Given the description of an element on the screen output the (x, y) to click on. 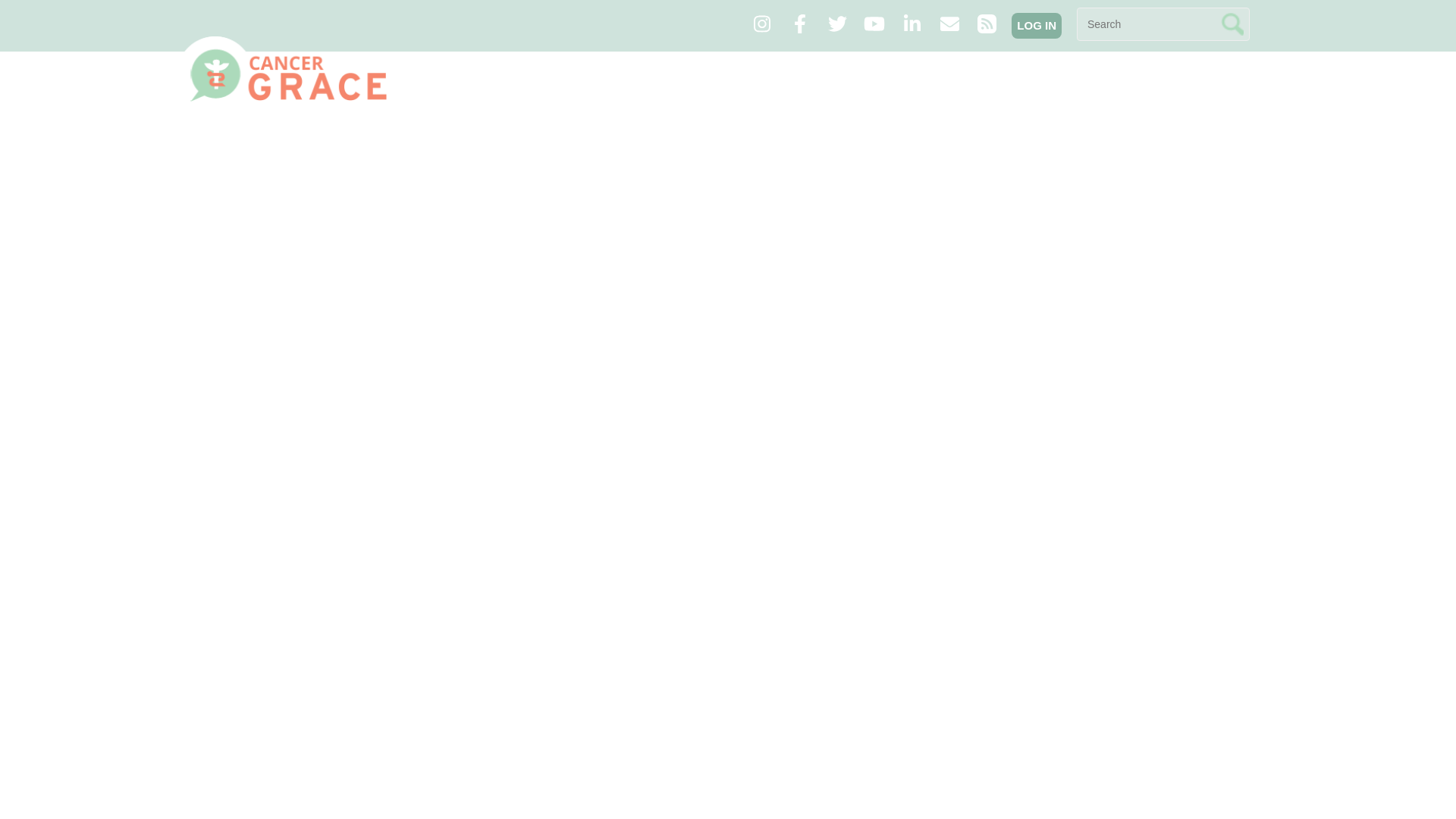
LOG IN (1036, 25)
